Given the description of an element on the screen output the (x, y) to click on. 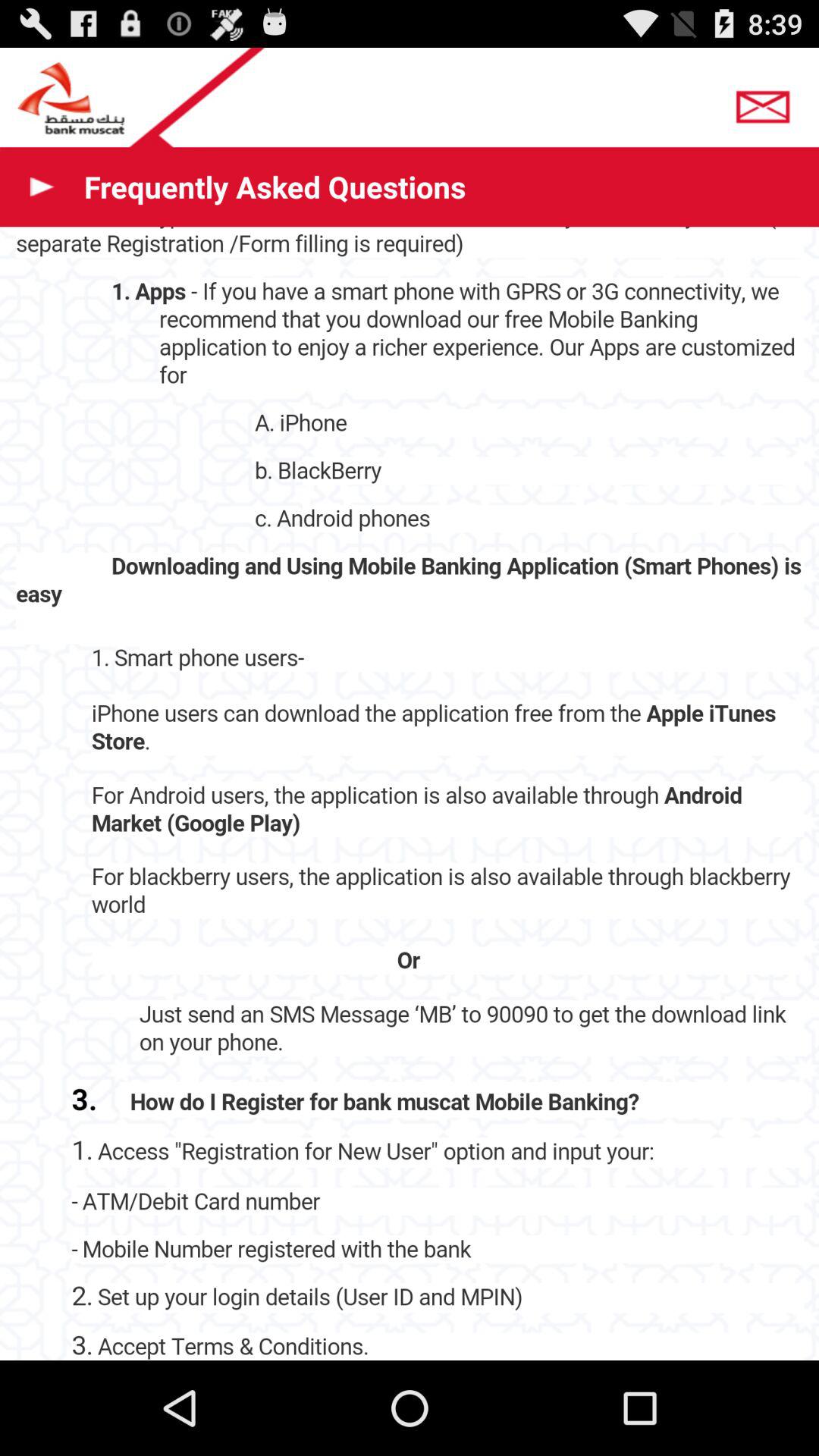
mail button (767, 101)
